Given the description of an element on the screen output the (x, y) to click on. 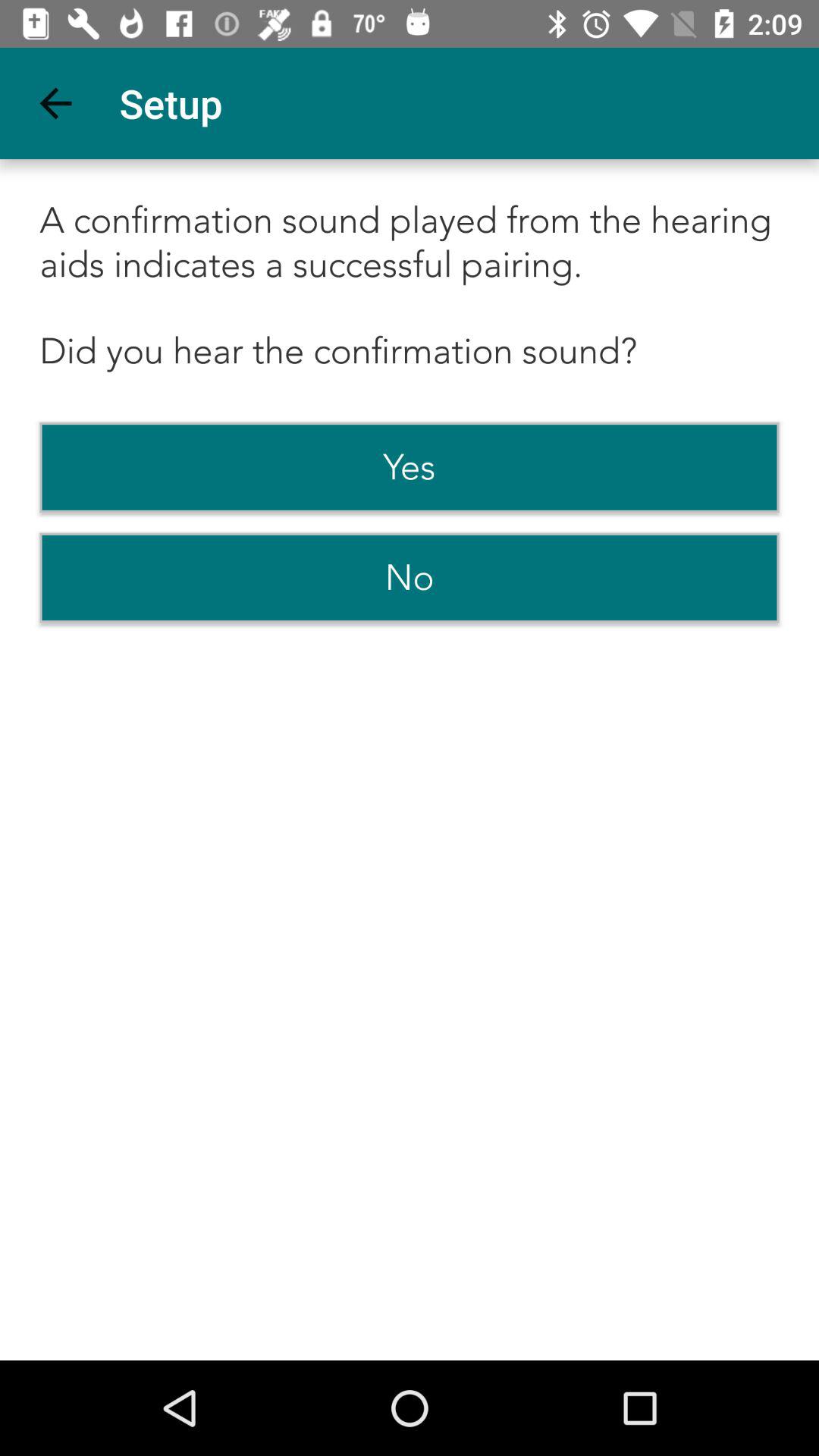
press the item below a confirmation sound (409, 467)
